Given the description of an element on the screen output the (x, y) to click on. 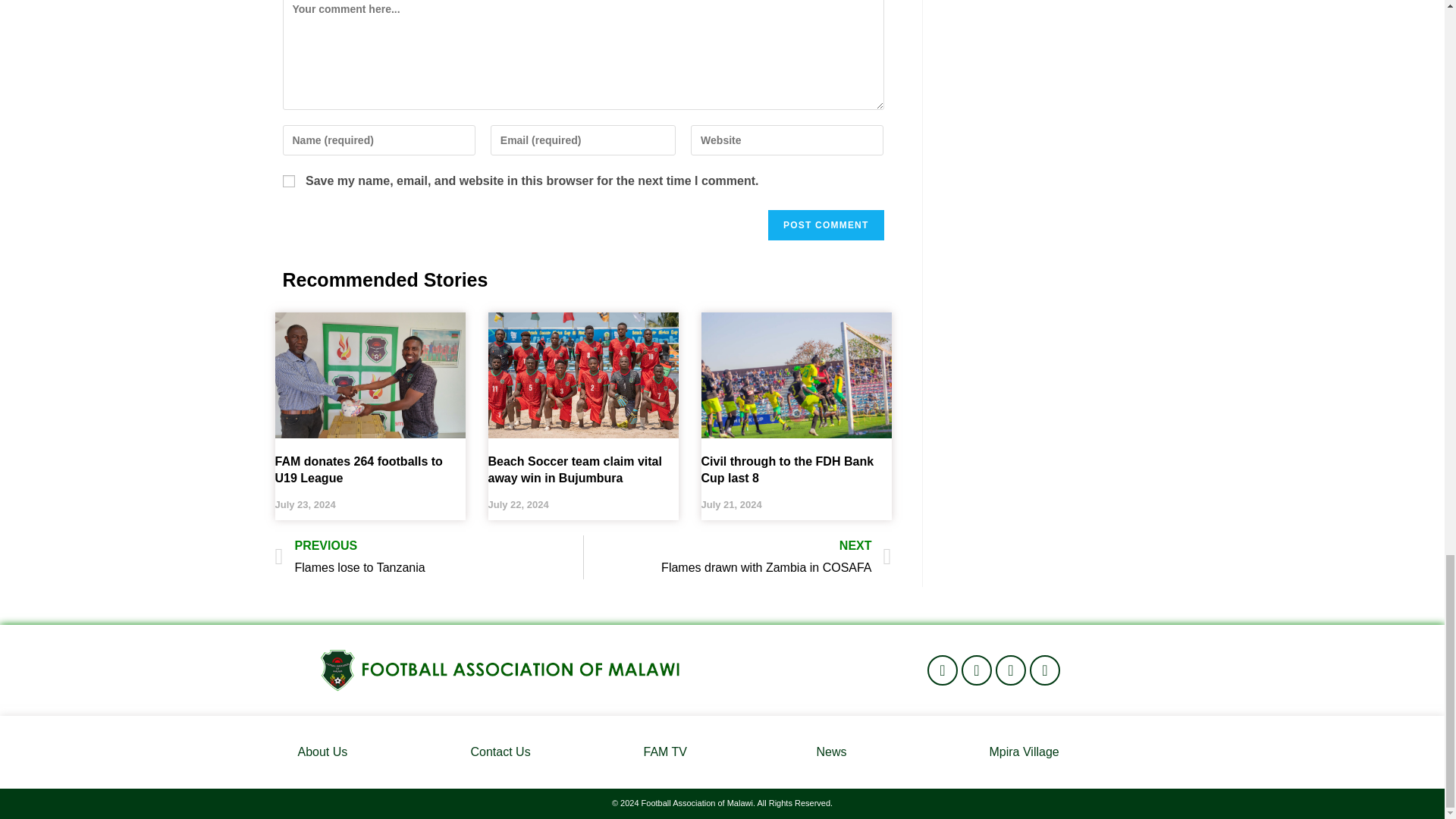
yes (288, 181)
Post Comment (825, 224)
